Given the description of an element on the screen output the (x, y) to click on. 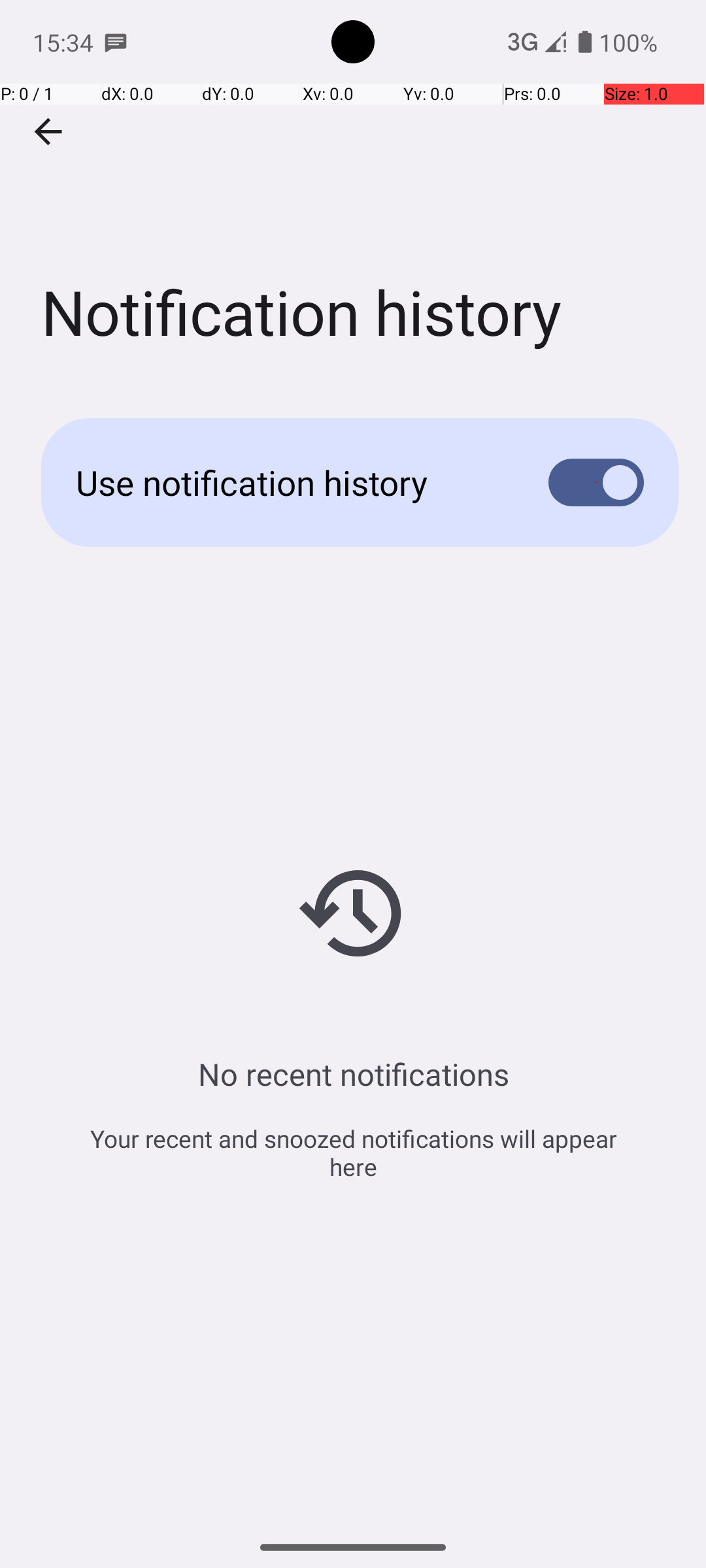
No recent notifications Element type: android.widget.TextView (352, 1073)
Your recent and snoozed notifications will appear here Element type: android.widget.TextView (352, 1152)
